Given the description of an element on the screen output the (x, y) to click on. 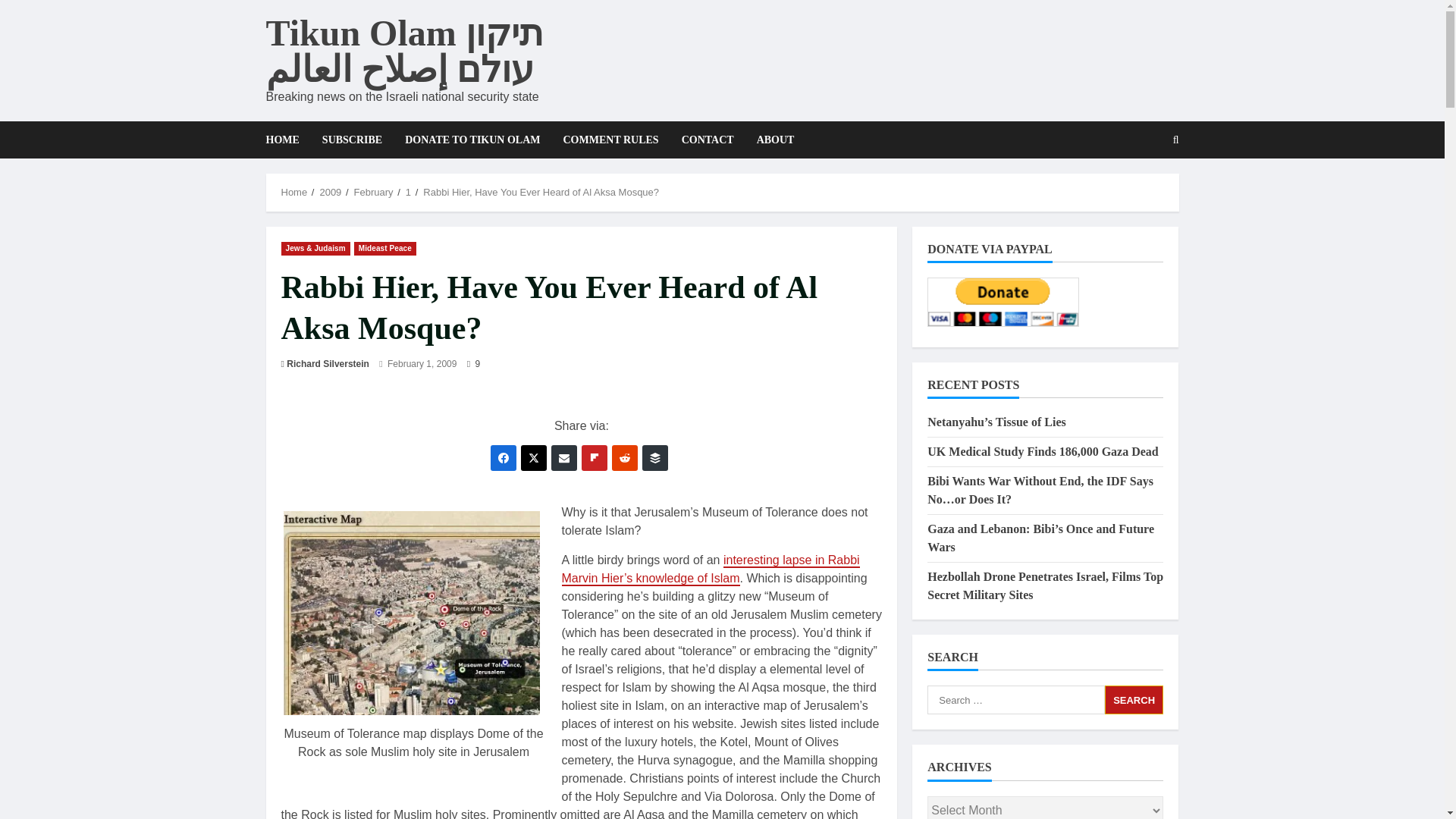
SUBSCRIBE (352, 139)
CONTACT (707, 139)
Search (1134, 699)
museum-of-tolerance-map (411, 612)
2009 (329, 192)
COMMENT RULES (610, 139)
ABOUT (769, 139)
February (373, 192)
DONATE TO TIKUN OLAM (472, 139)
Richard Silverstein (327, 364)
